Given the description of an element on the screen output the (x, y) to click on. 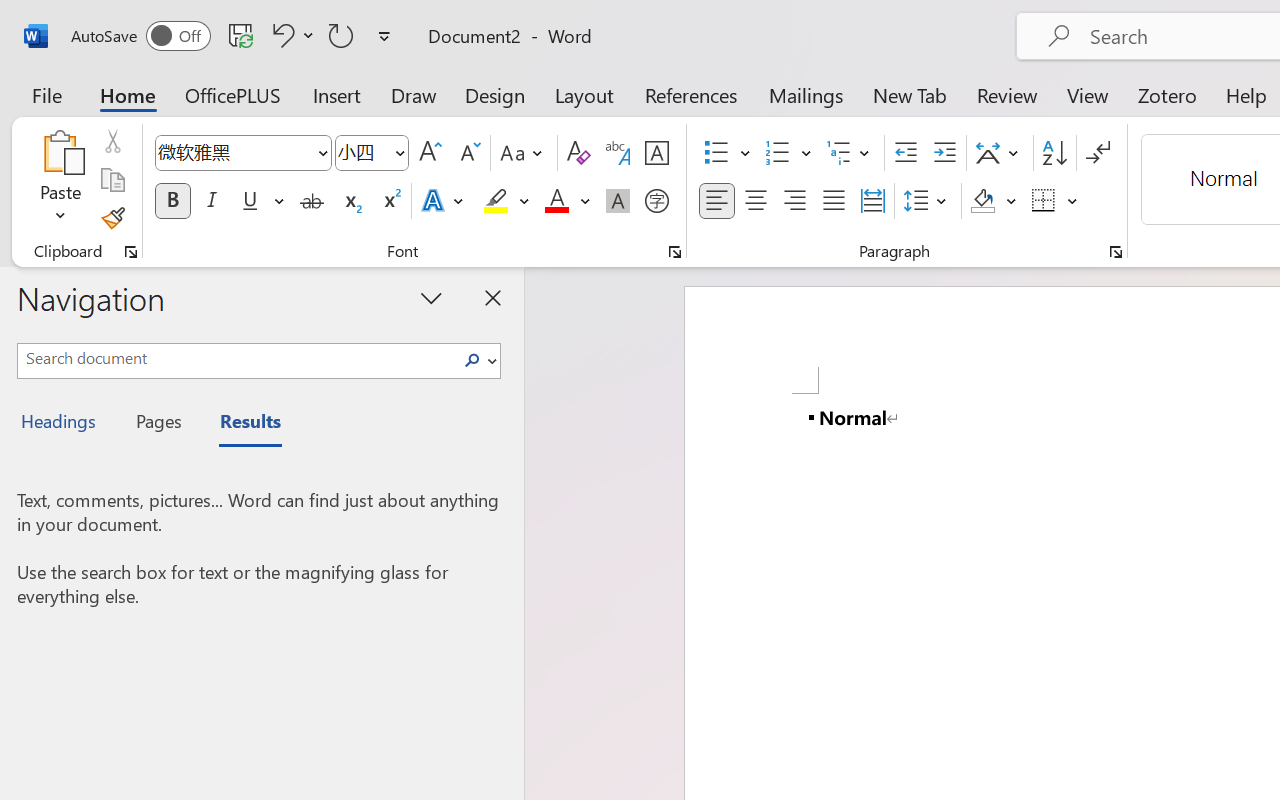
Text Highlight Color Yellow (495, 201)
View (1087, 94)
Line and Paragraph Spacing (927, 201)
Text Highlight Color (506, 201)
Class: NetUIImage (471, 360)
Show/Hide Editing Marks (1098, 153)
Asian Layout (1000, 153)
Center (756, 201)
Font Color Red (556, 201)
Search (478, 360)
Character Shading (618, 201)
Design (495, 94)
Text Effects and Typography (444, 201)
Paragraph... (1115, 252)
